Given the description of an element on the screen output the (x, y) to click on. 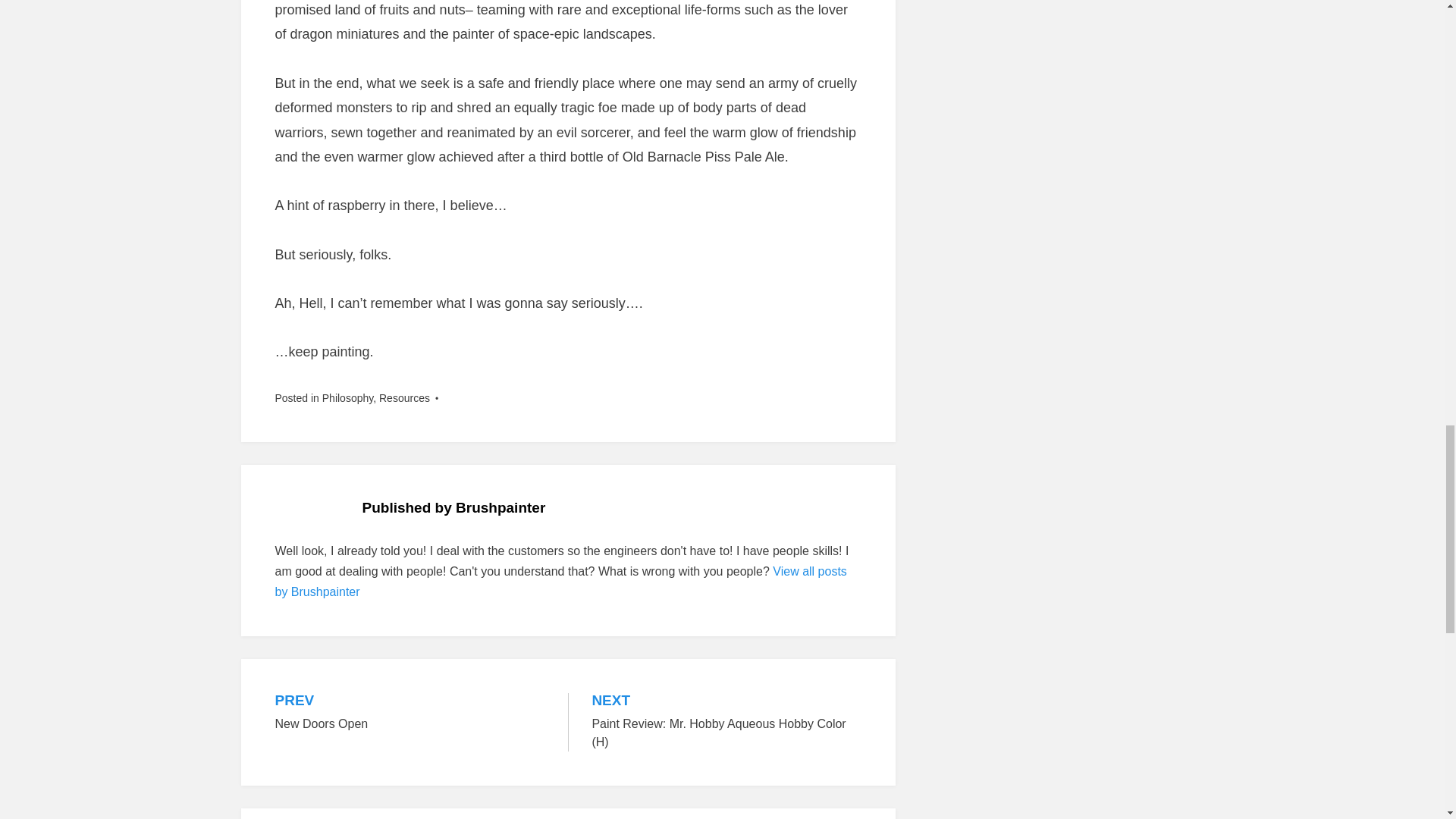
View all posts by Brushpainter (560, 581)
Resources (403, 398)
Philosophy (346, 398)
